Given the description of an element on the screen output the (x, y) to click on. 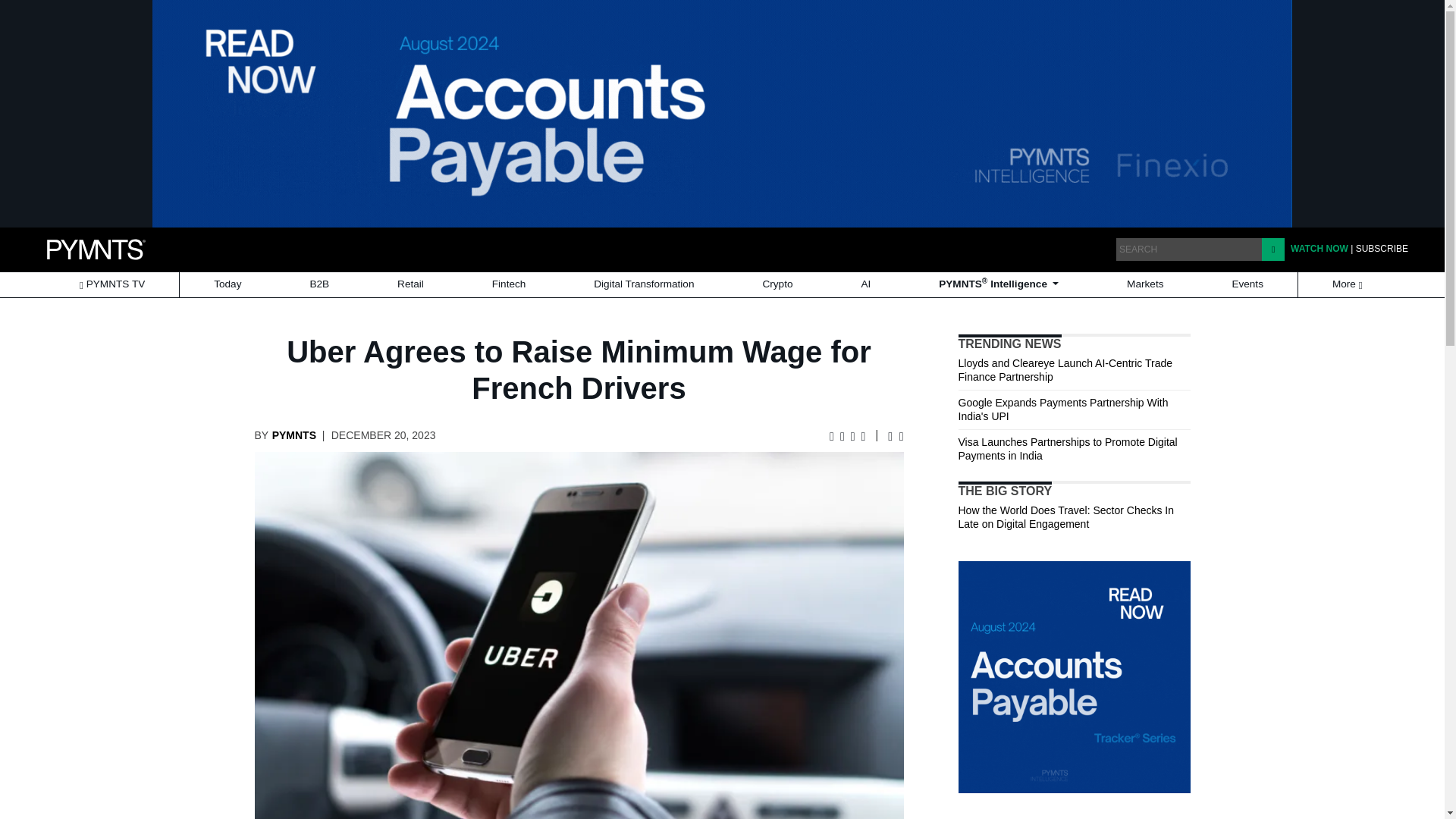
SUBSCRIBE (1381, 248)
Posts by PYMNTS (293, 435)
Events (1246, 284)
B2B (318, 284)
 PYMNTS TV (112, 284)
More  (1348, 284)
Today (227, 284)
Markets (1144, 284)
Digital Transformation (643, 284)
Fintech (509, 284)
